Given the description of an element on the screen output the (x, y) to click on. 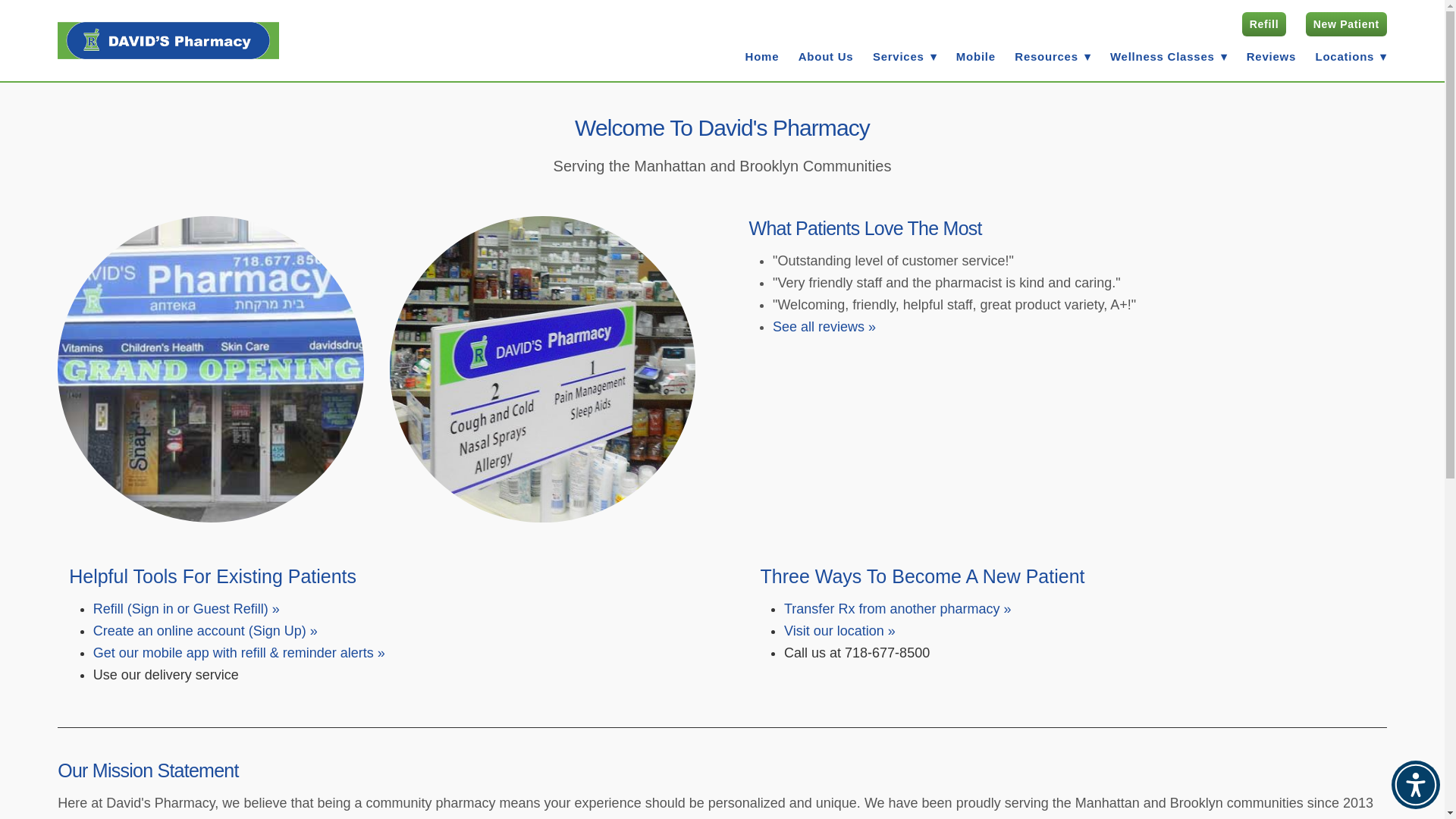
Reviews (1270, 56)
Accessibility Menu (1415, 784)
About Us (825, 56)
Home (761, 56)
David's Pharmacy (168, 40)
Refill (1263, 24)
New Patient (1346, 24)
Mobile (975, 56)
